Given the description of an element on the screen output the (x, y) to click on. 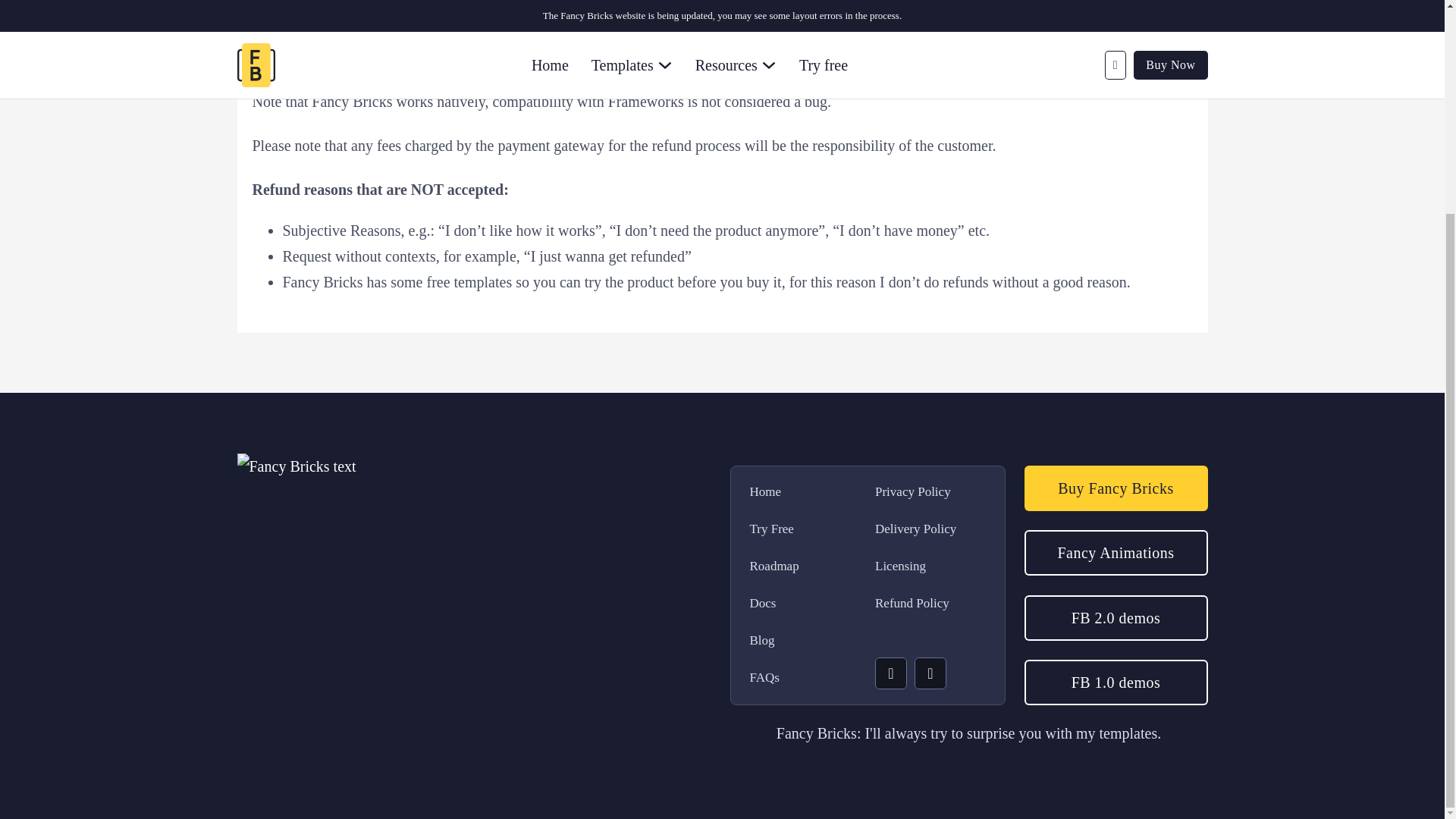
Roadmap (773, 567)
FB 1.0 demos (1115, 682)
Buy Fancy Bricks (1115, 488)
Try Free (773, 529)
FB 2.0 demos (1115, 617)
Licensing (915, 567)
Docs (773, 603)
Home (773, 492)
Blog (773, 640)
Privacy Policy (915, 492)
FAQs (773, 678)
Fancy Animations (1115, 552)
Refund Policy (915, 603)
Delivery Policy (915, 529)
